Given the description of an element on the screen output the (x, y) to click on. 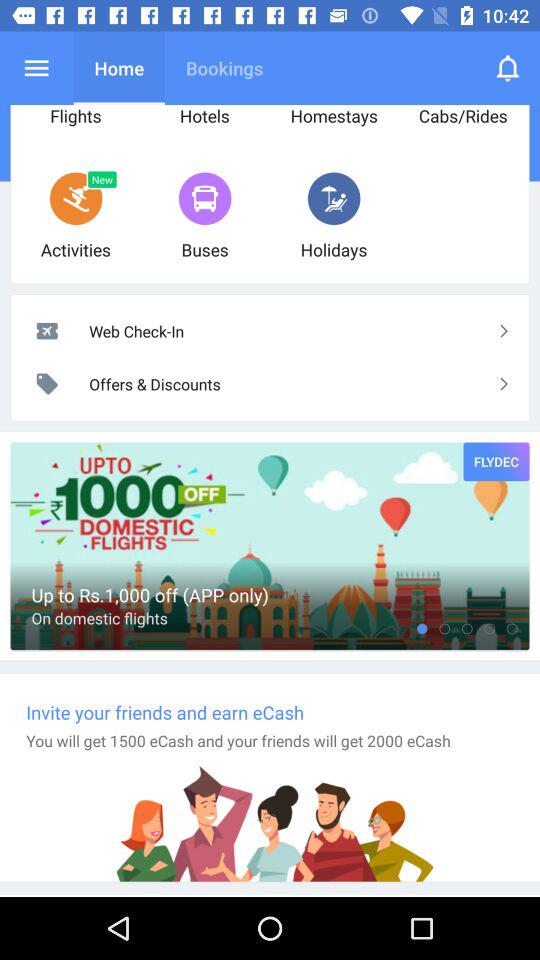
press icon below the flydec icon (466, 628)
